Given the description of an element on the screen output the (x, y) to click on. 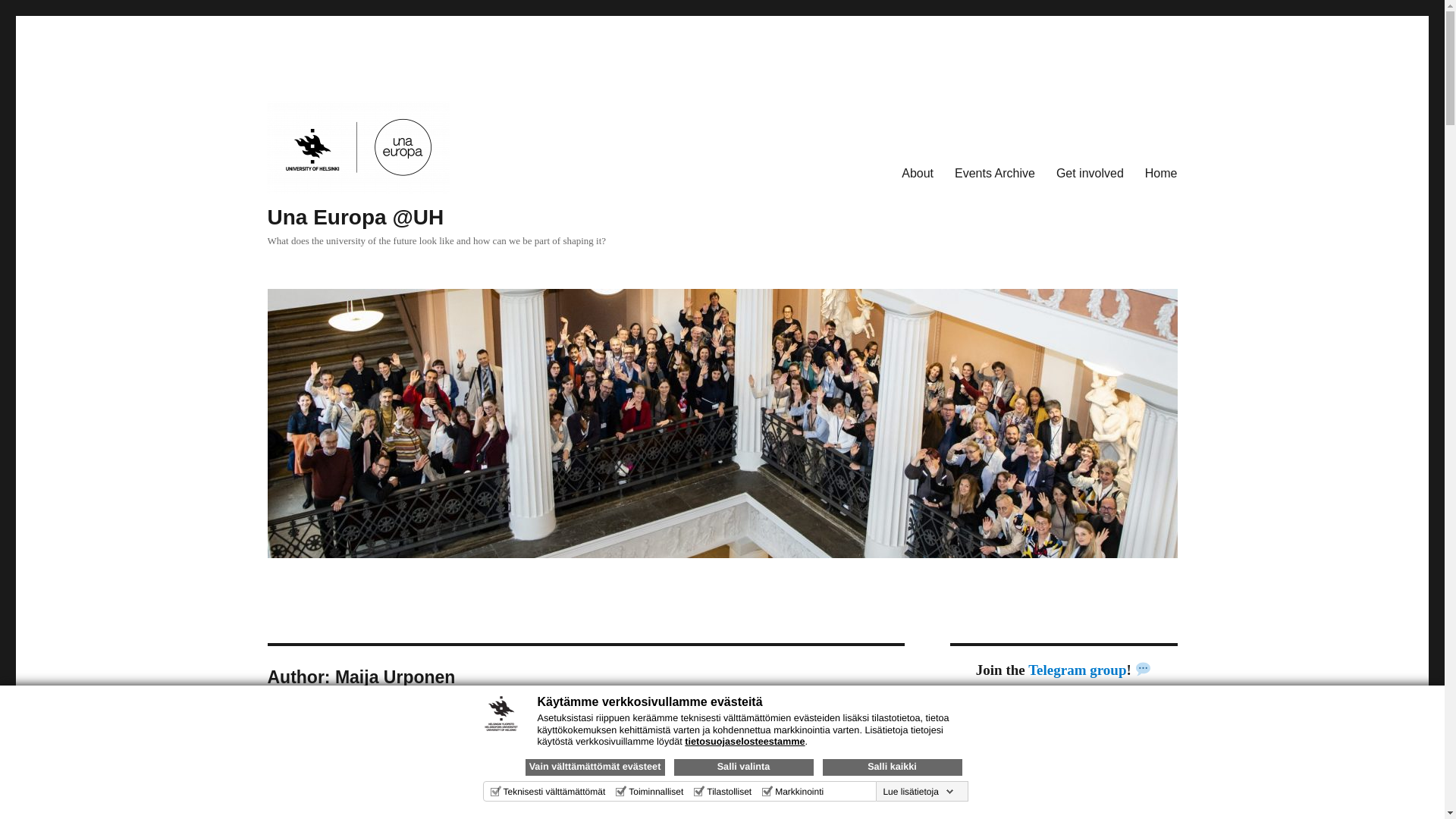
Salli kaikki (891, 767)
Salli valinta (742, 767)
tietosuojaselosteestamme (744, 741)
